Given the description of an element on the screen output the (x, y) to click on. 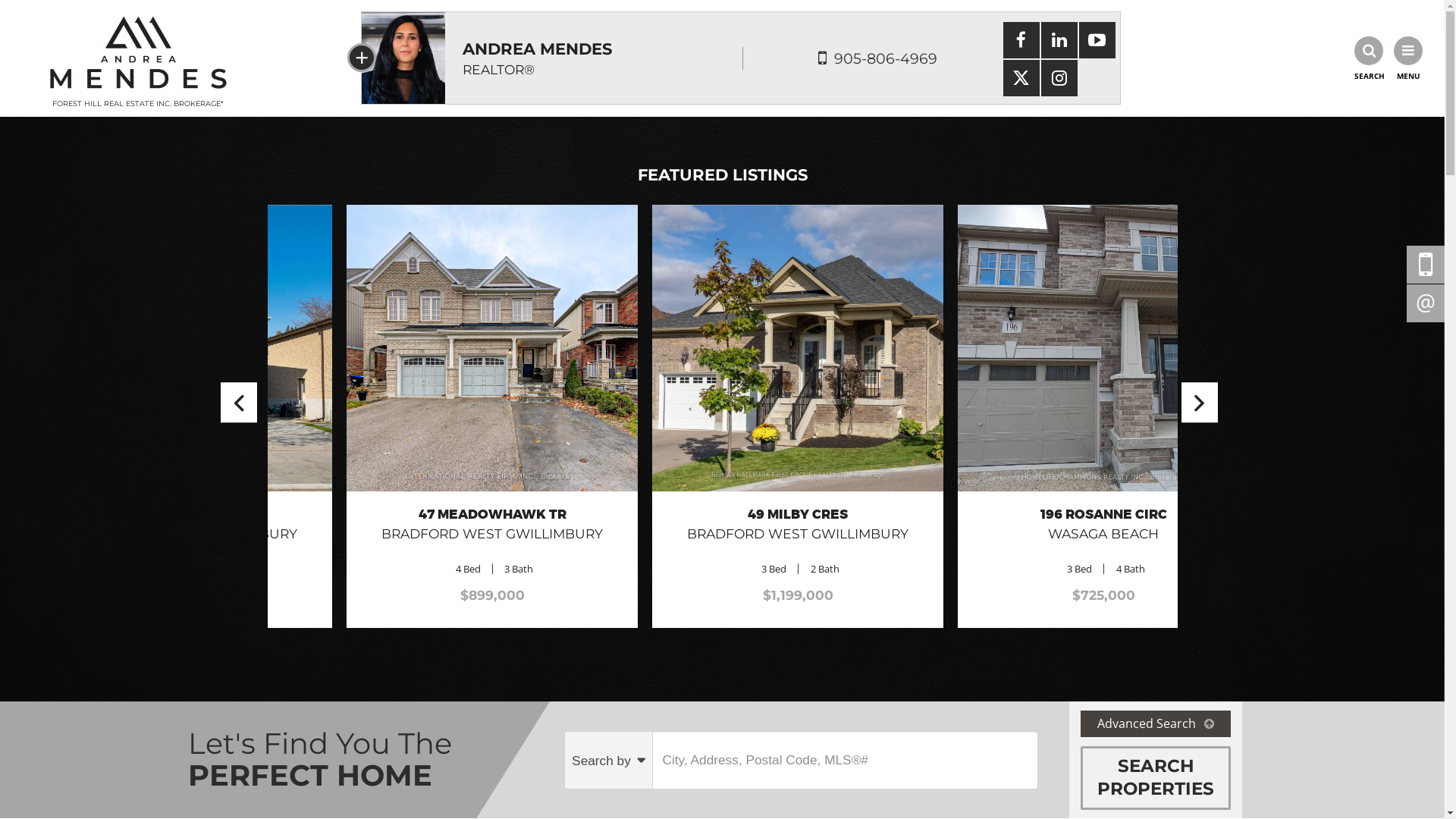
  Element type: text (1425, 264)
READ MORE Element type: text (720, 553)
  Element type: text (1425, 303)
Search by Element type: text (608, 760)
Square Feet Element type: text (1106, 764)
BRADFORD WEST GWILLIMBURY Element type: text (1026, 533)
Advanced Search Element type: text (1155, 723)
BRADFORD WEST GWILLIMBURY Element type: text (414, 533)
READ MORE Element type: text (1025, 553)
Baths Element type: text (584, 764)
Show Only Element type: text (584, 802)
+ Element type: text (361, 57)
BRADFORD WEST GWILLIMBURY Element type: text (720, 533)
Home Type Element type: text (845, 726)
Property Type Element type: text (845, 764)
Days On Market Element type: text (322, 802)
Price Range Element type: text (584, 726)
READ MORE Element type: text (414, 553)
Beds Element type: text (322, 764)
Add Element type: text (948, 802)
FOREST HILL REAL ESTATE INC. BROKERAGE* Element type: text (138, 58)
For Sale... Element type: text (1106, 726)
905-806-4969 Element type: text (885, 58)
Residential Element type: text (322, 726)
SEARCH PROPERTIES Element type: text (1155, 777)
